Given the description of an element on the screen output the (x, y) to click on. 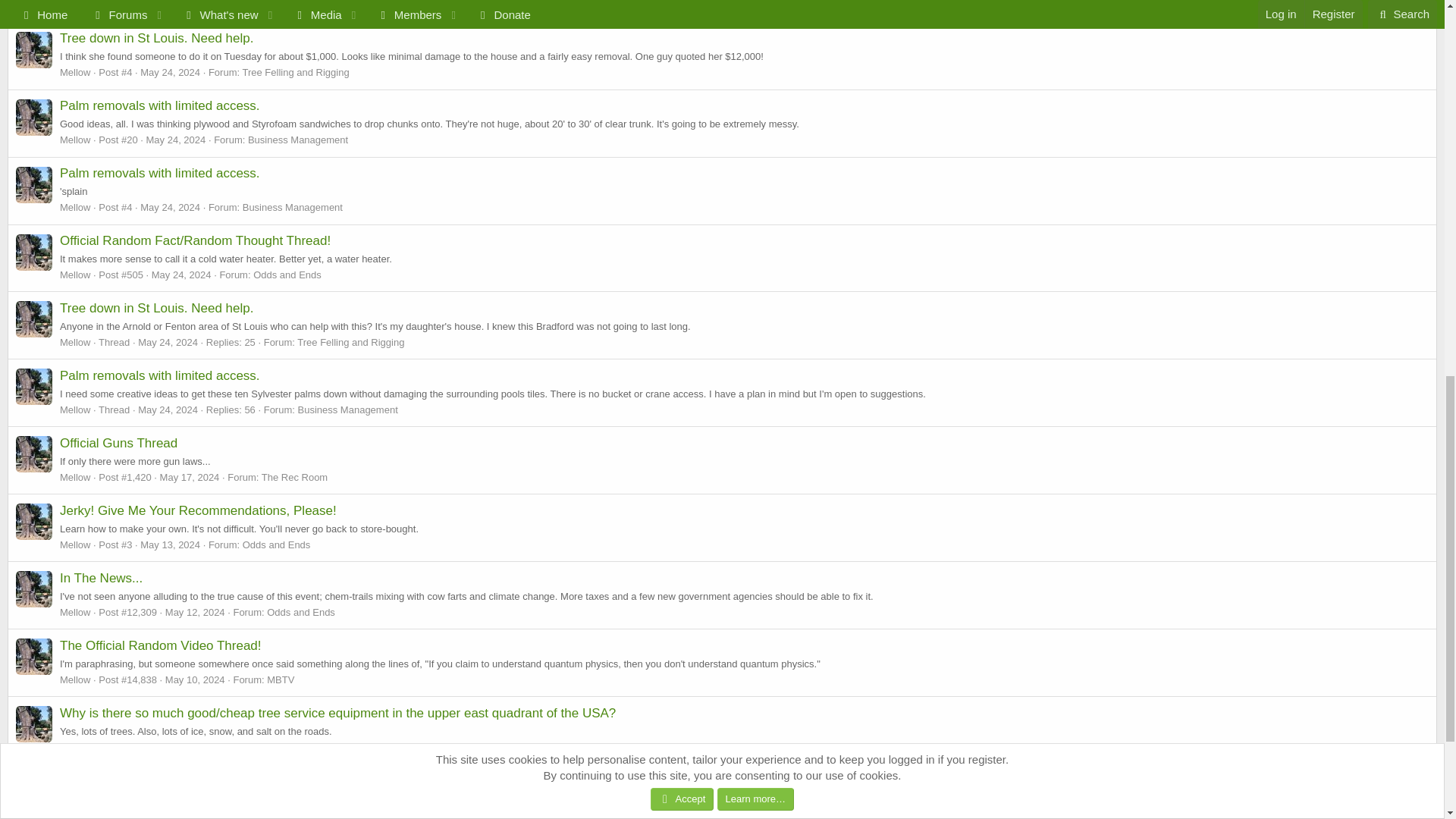
May 13, 2024 at 6:21 AM (169, 544)
May 17, 2024 at 1:20 PM (189, 477)
May 24, 2024 at 6:25 PM (169, 71)
May 24, 2024 at 4:15 PM (169, 206)
May 12, 2024 at 11:58 AM (195, 612)
May 25, 2024 at 11:18 AM (176, 5)
May 24, 2024 at 3:45 PM (168, 409)
May 24, 2024 at 6:21 PM (176, 139)
May 24, 2024 at 3:51 PM (168, 342)
May 24, 2024 at 3:56 PM (181, 274)
